Given the description of an element on the screen output the (x, y) to click on. 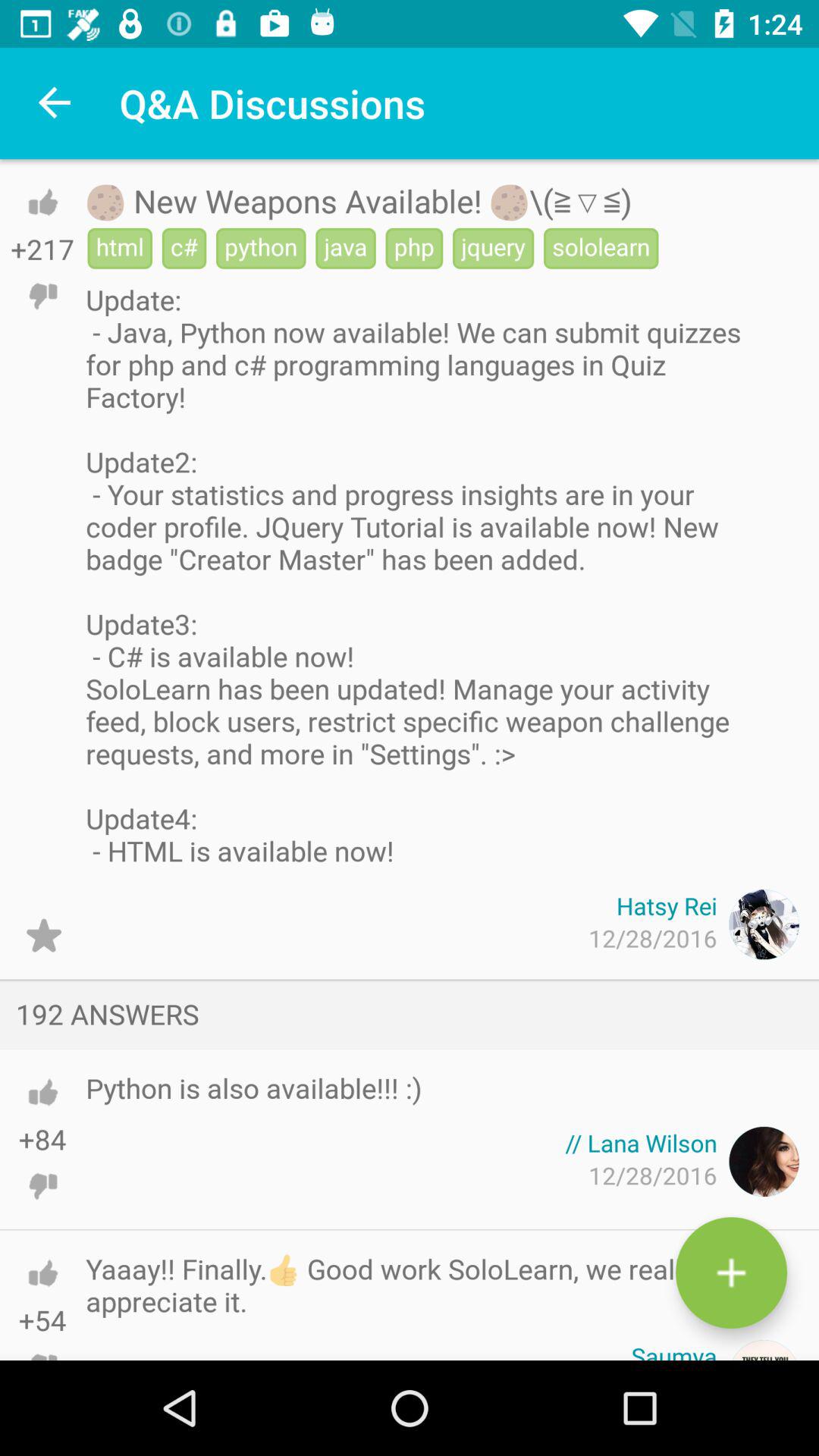
add button (731, 1272)
